Given the description of an element on the screen output the (x, y) to click on. 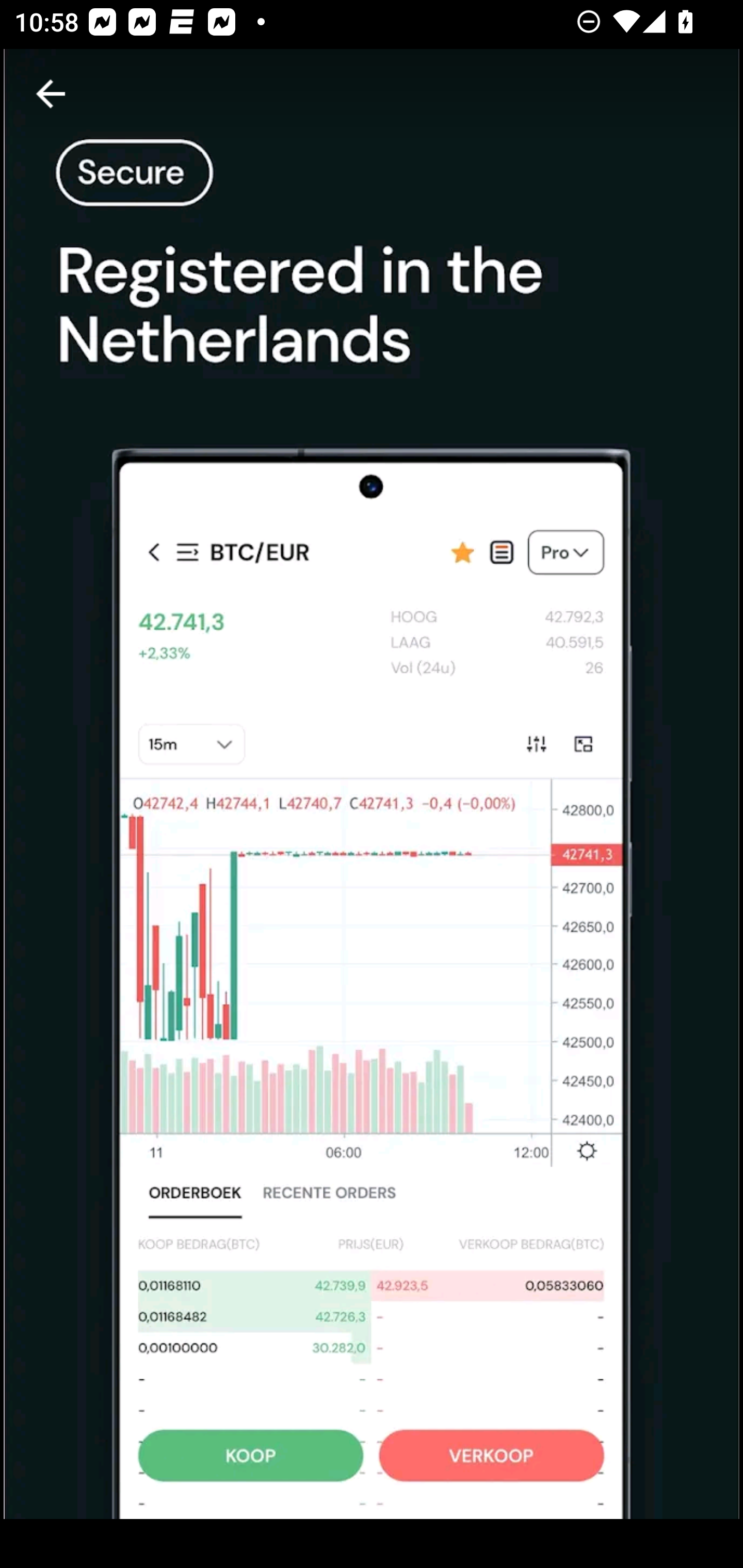
Back (50, 93)
